Given the description of an element on the screen output the (x, y) to click on. 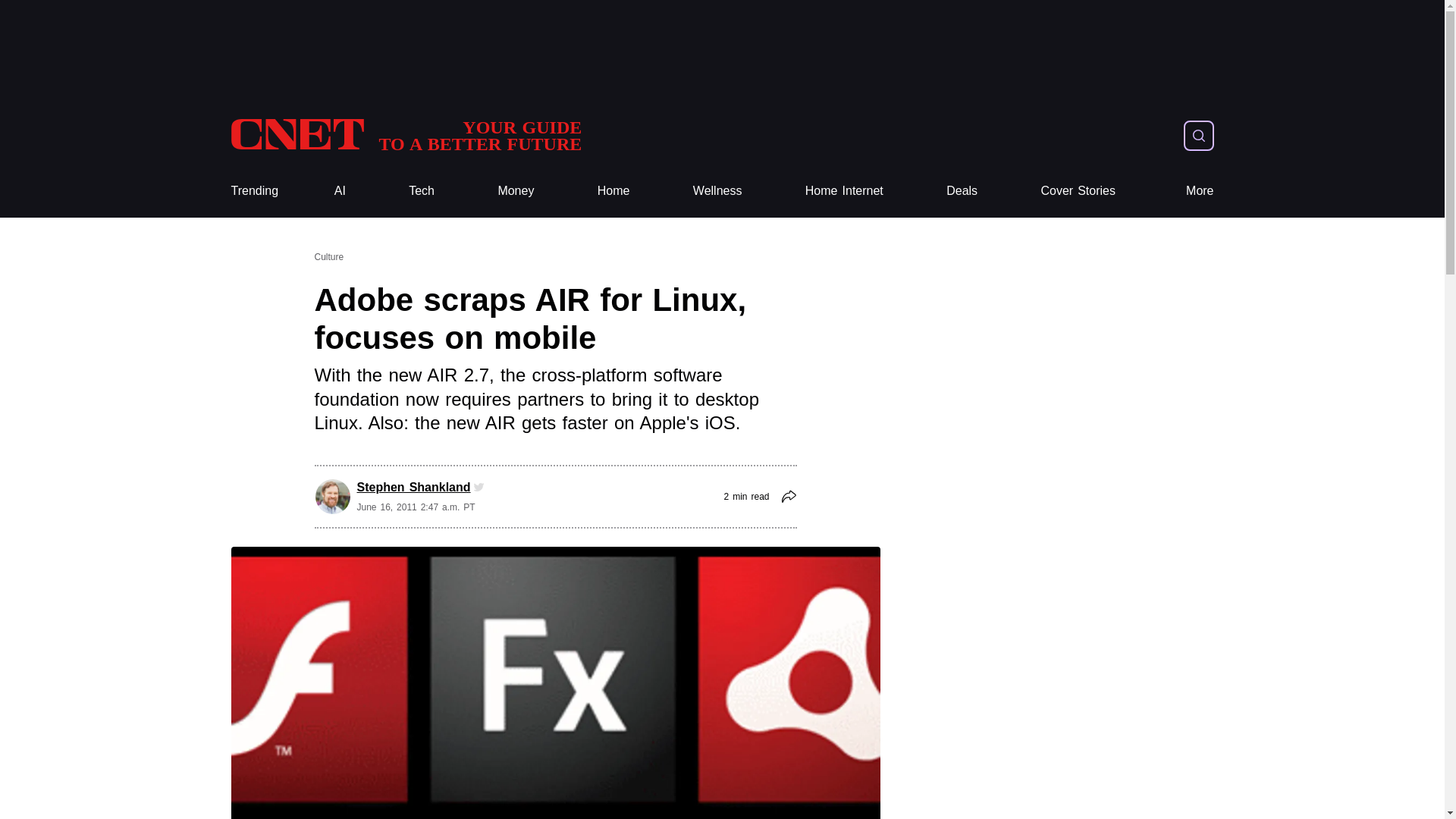
Wellness (717, 190)
Home Internet (844, 190)
Tech (421, 190)
Trending (254, 190)
Deals (961, 190)
Wellness (717, 190)
Home (613, 190)
Money (515, 190)
CNET (405, 135)
More (1199, 190)
